Given the description of an element on the screen output the (x, y) to click on. 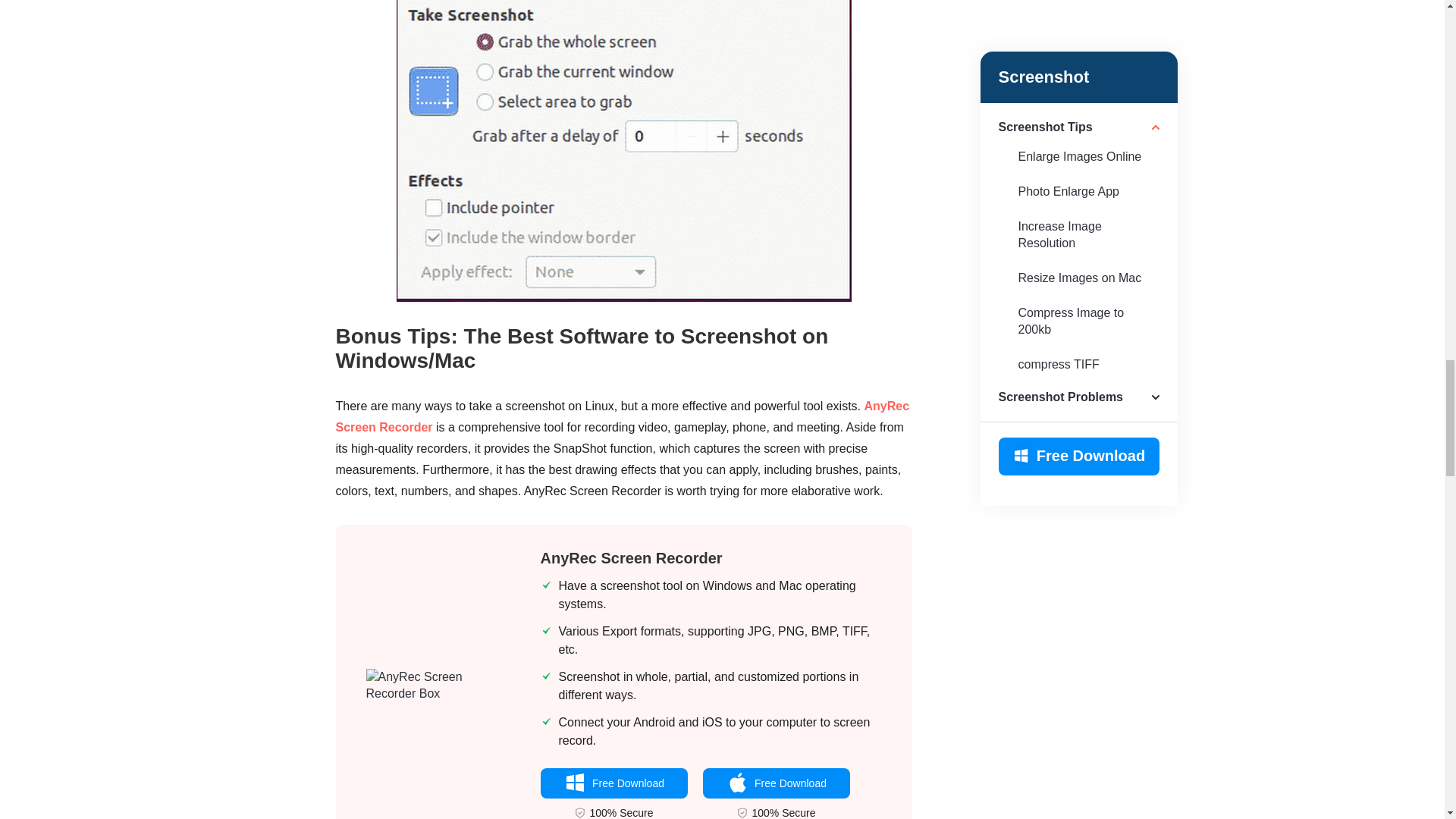
AnyRec Screen Recorder (631, 557)
Free Download (774, 783)
Free Download (613, 783)
AnyRec Screen Recorder (621, 416)
